Given the description of an element on the screen output the (x, y) to click on. 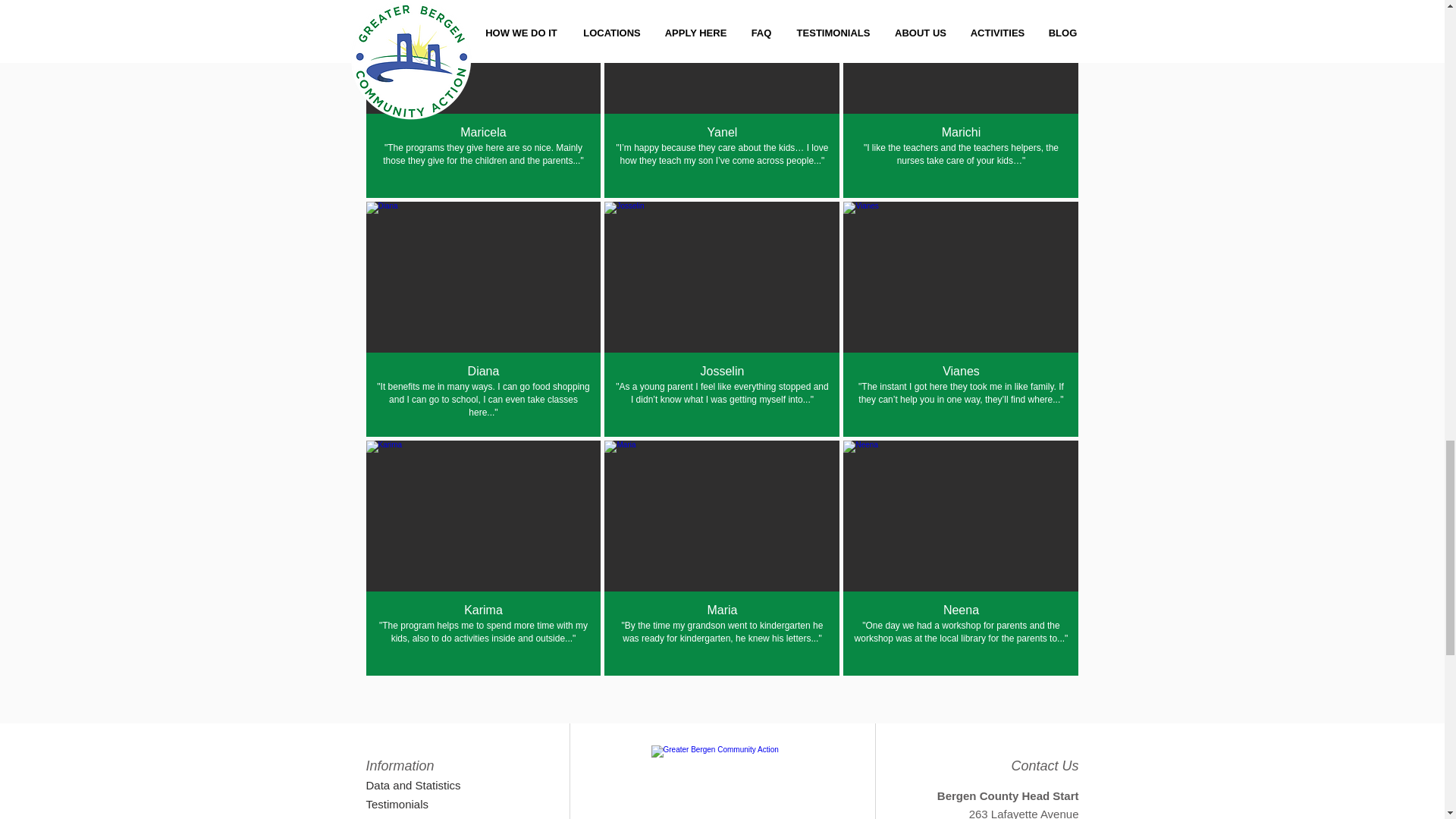
Jobs (446, 816)
Data and Statistics (419, 784)
Testimonials (419, 803)
